Given the description of an element on the screen output the (x, y) to click on. 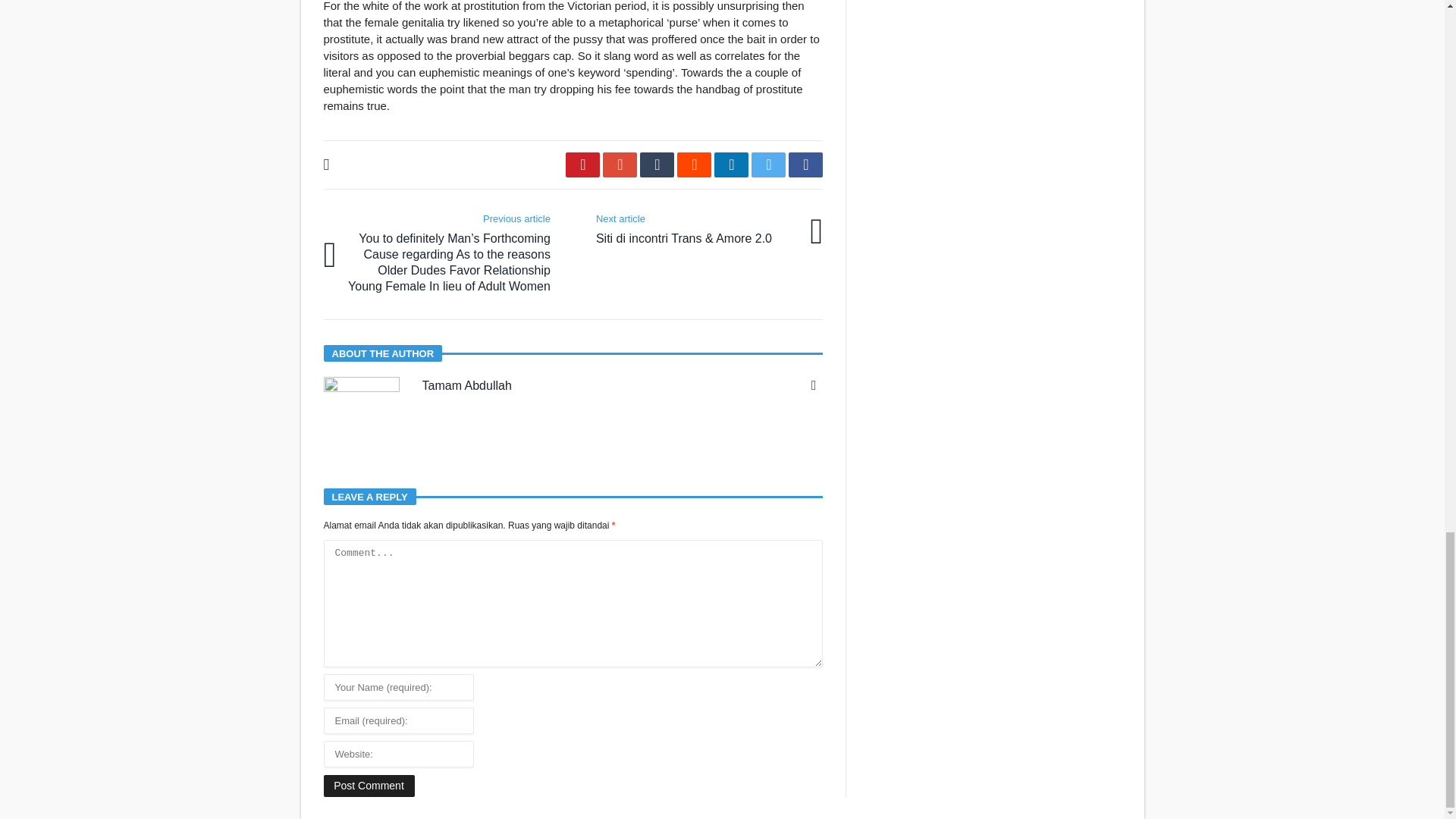
facebook (805, 164)
Post Comment (368, 785)
twitter (768, 164)
